Given the description of an element on the screen output the (x, y) to click on. 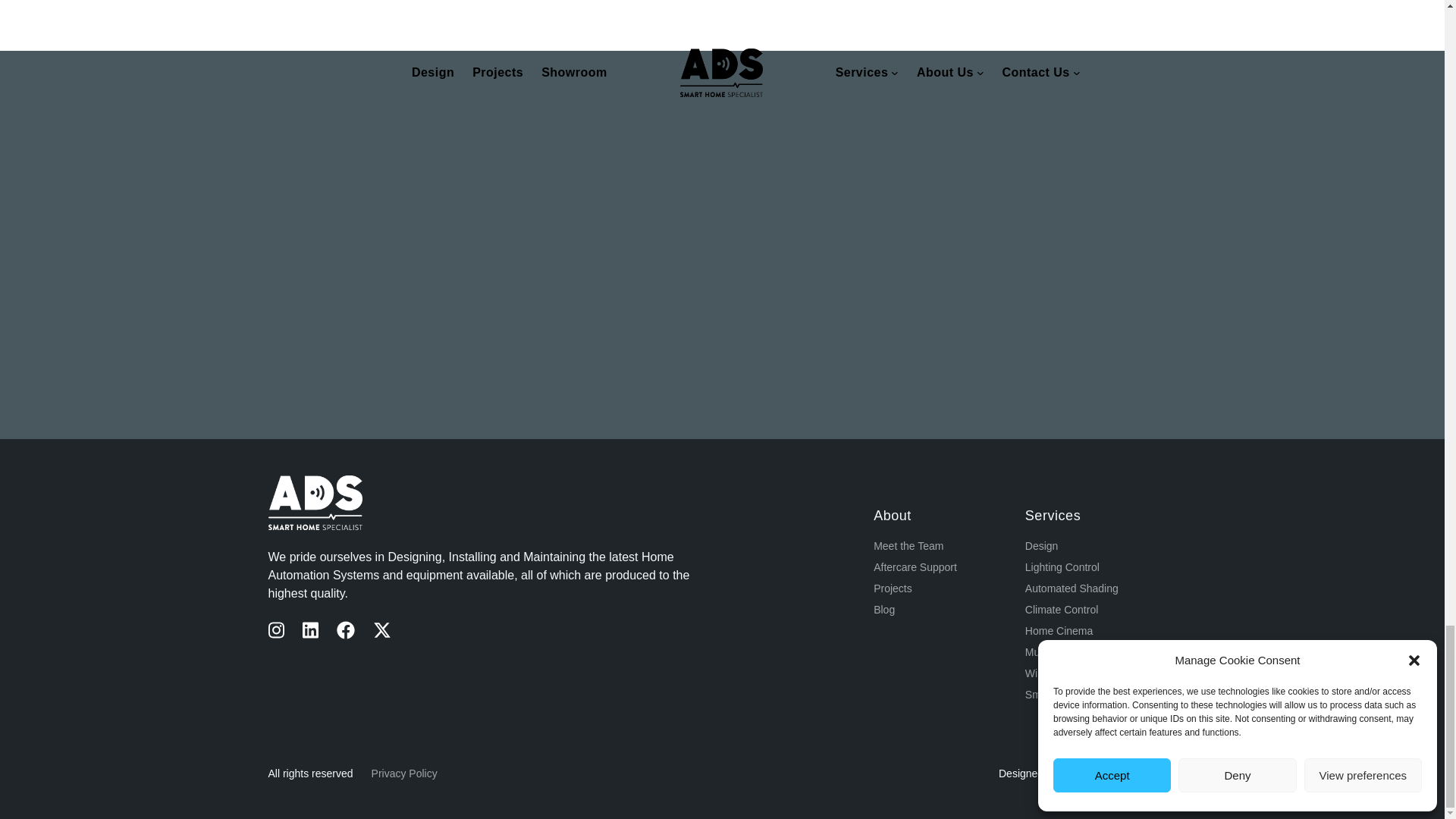
Customer reviews powered by Trustpilot (367, 716)
